Given the description of an element on the screen output the (x, y) to click on. 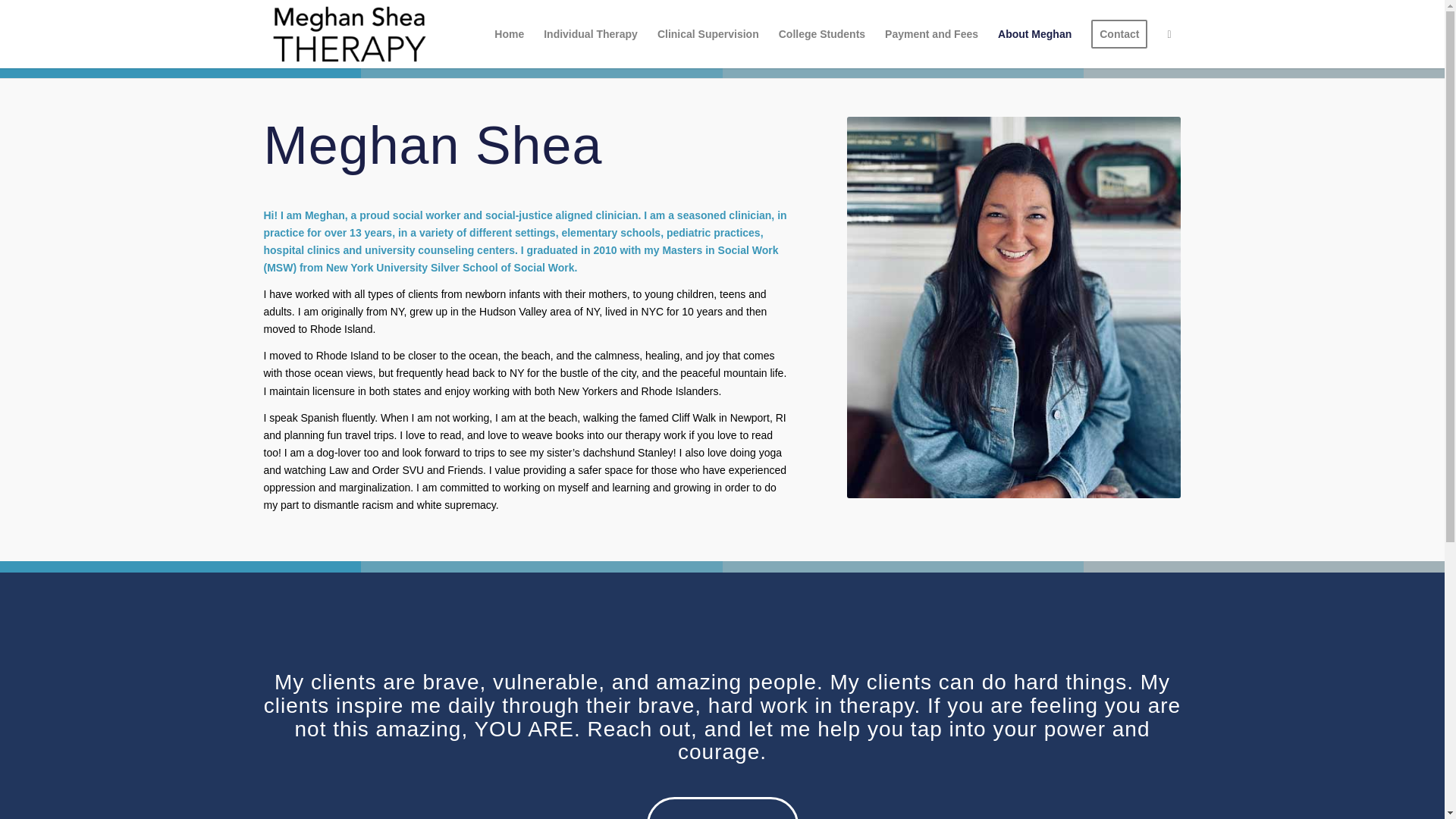
College Students (821, 33)
Contact (1119, 33)
Individual Therapy (590, 33)
Contact me (721, 807)
Payment and Fees (931, 33)
About Meghan (1034, 33)
Clinical Supervision (707, 33)
